Given the description of an element on the screen output the (x, y) to click on. 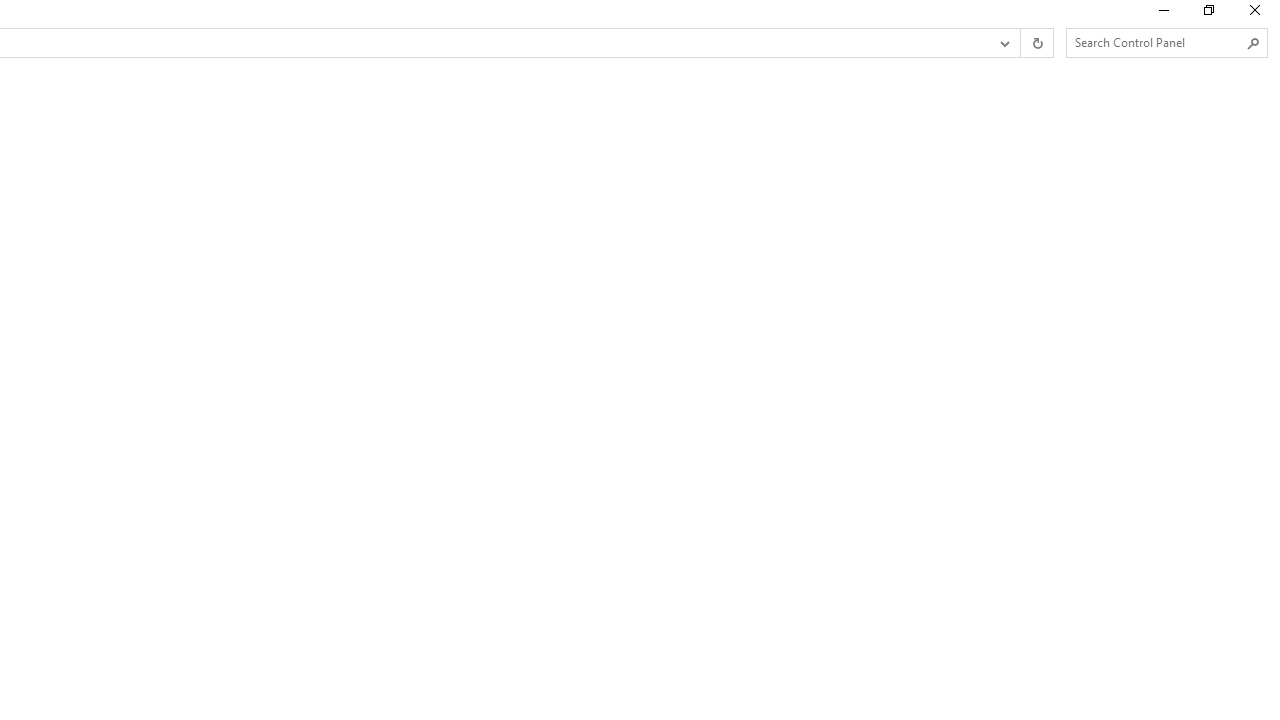
Refresh "User Accounts" (F5) (1036, 43)
Search Box (1156, 42)
Previous Locations (1003, 43)
Restore (1208, 14)
Address band toolbar (1019, 43)
Search (1253, 43)
Minimize (1162, 14)
